Given the description of an element on the screen output the (x, y) to click on. 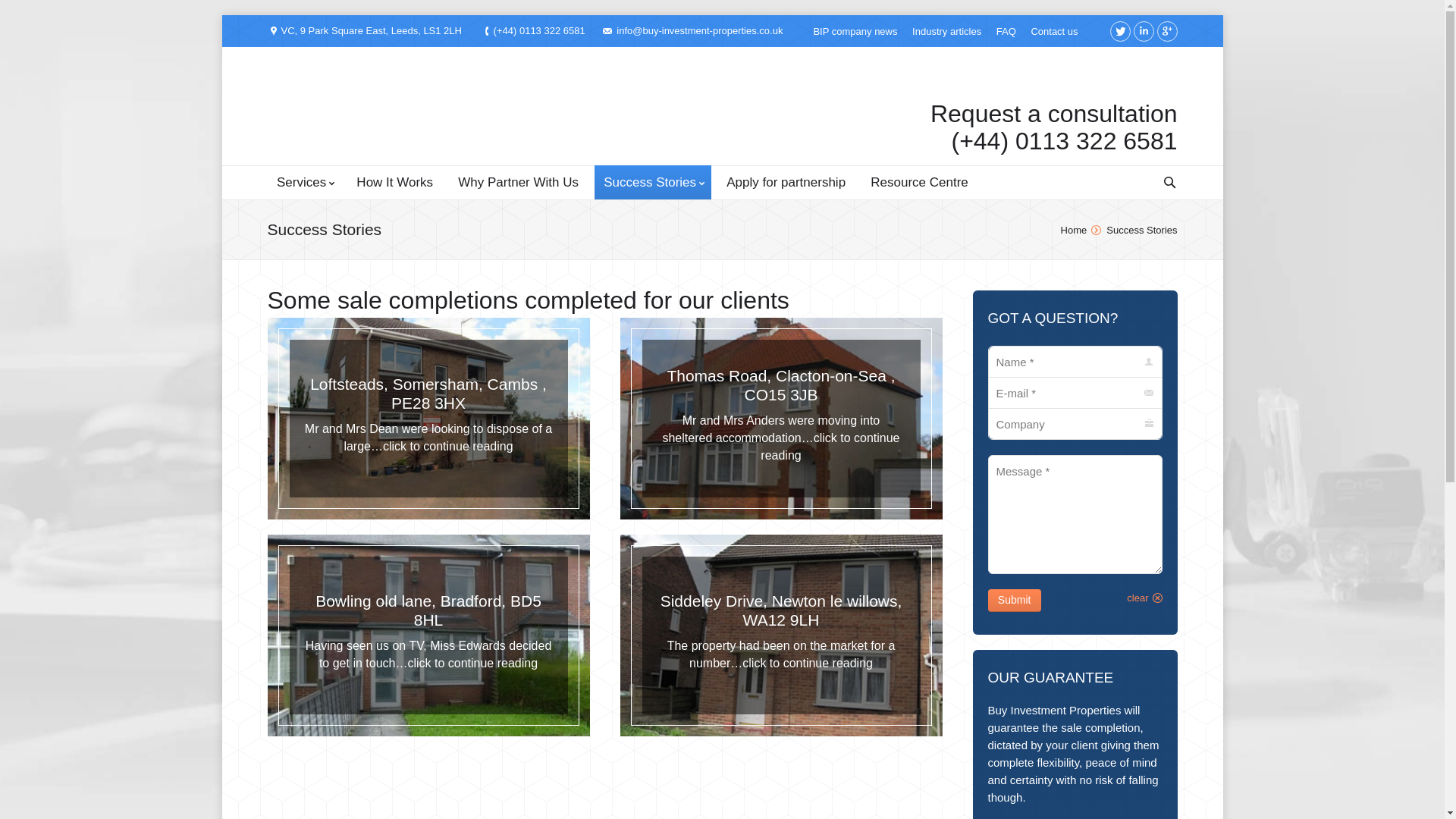
Linkedin (1142, 31)
Why Partner With Us (518, 182)
Apply for partnership (786, 182)
Twitter (1120, 31)
Services (303, 182)
Industry articles (946, 30)
Success Stories (652, 182)
BIP company news (854, 30)
Contact us (1053, 30)
How It Works (394, 182)
submit (1166, 606)
Resource Centre (919, 182)
